Given the description of an element on the screen output the (x, y) to click on. 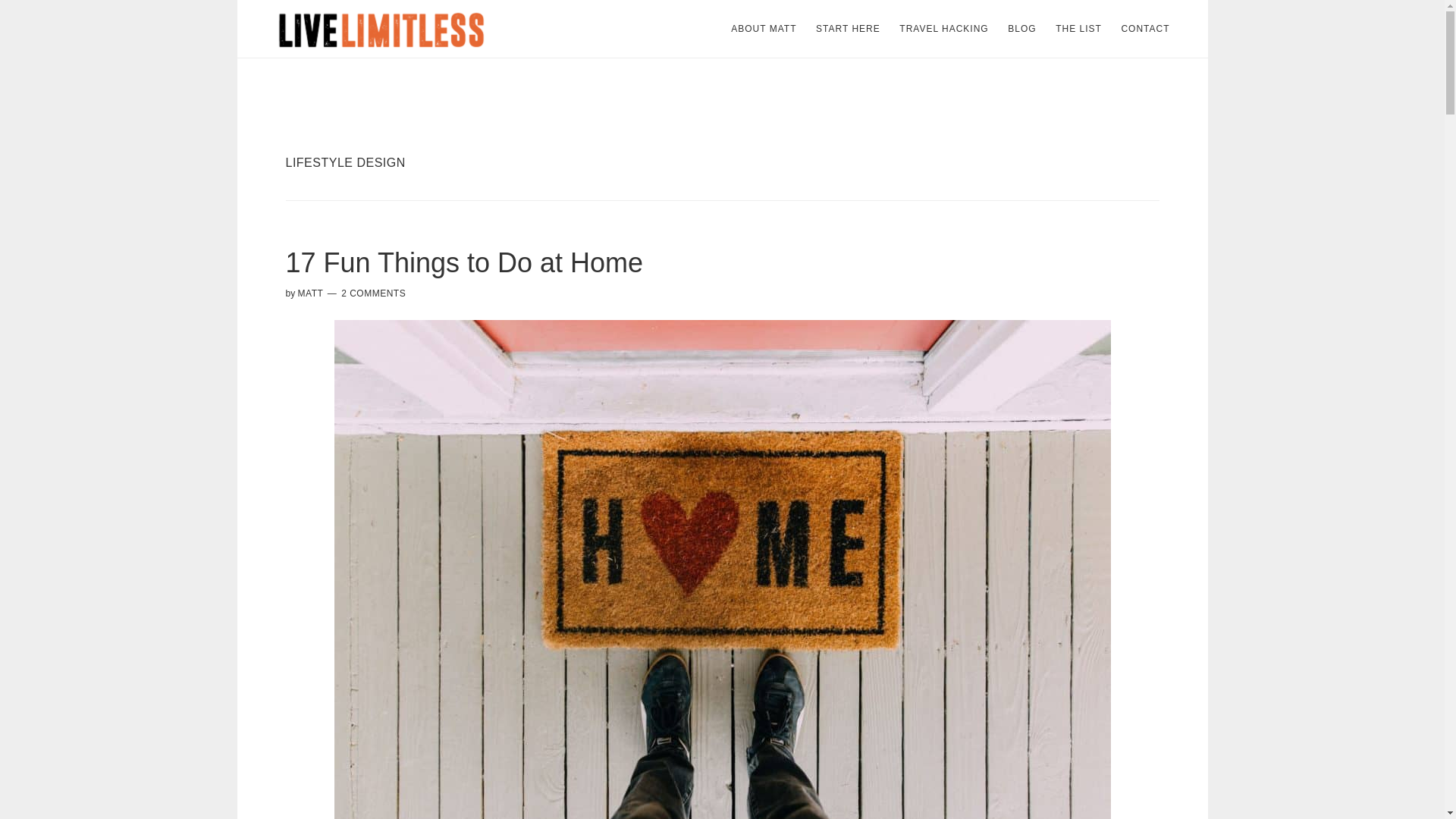
THE LIST (1078, 28)
ABOUT MATT (763, 28)
BLOG (1021, 28)
LIVE LIMITLESS (380, 28)
TRAVEL HACKING (943, 28)
2 COMMENTS (373, 293)
CONTACT (1144, 28)
MATT (310, 293)
START HERE (848, 28)
17 Fun Things to Do at Home (464, 262)
